Given the description of an element on the screen output the (x, y) to click on. 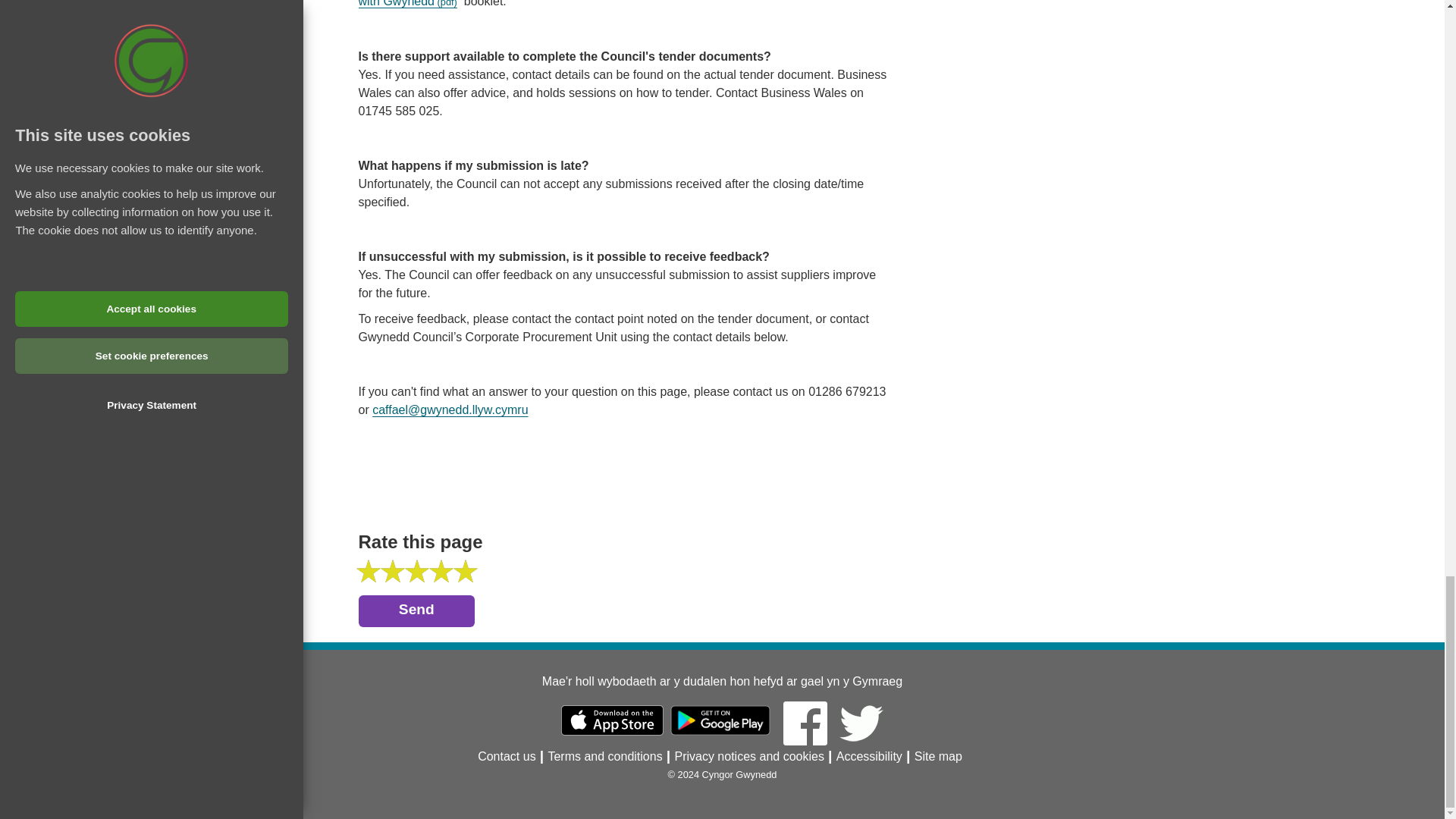
Privacy notices and cookies (749, 756)
Working with Gwynedd (618, 3)
Send (416, 611)
Accessibility (868, 756)
Terms and conditions (604, 756)
Contact us (506, 756)
WorkingwithGwynedd12 (618, 3)
Site map (938, 756)
star rating (368, 570)
